Given the description of an element on the screen output the (x, y) to click on. 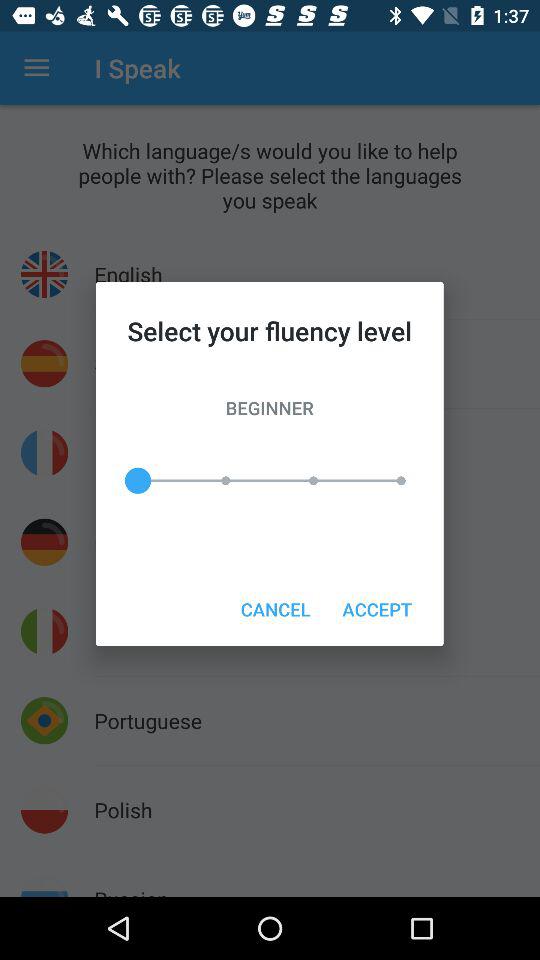
tap the item next to the cancel item (376, 608)
